Given the description of an element on the screen output the (x, y) to click on. 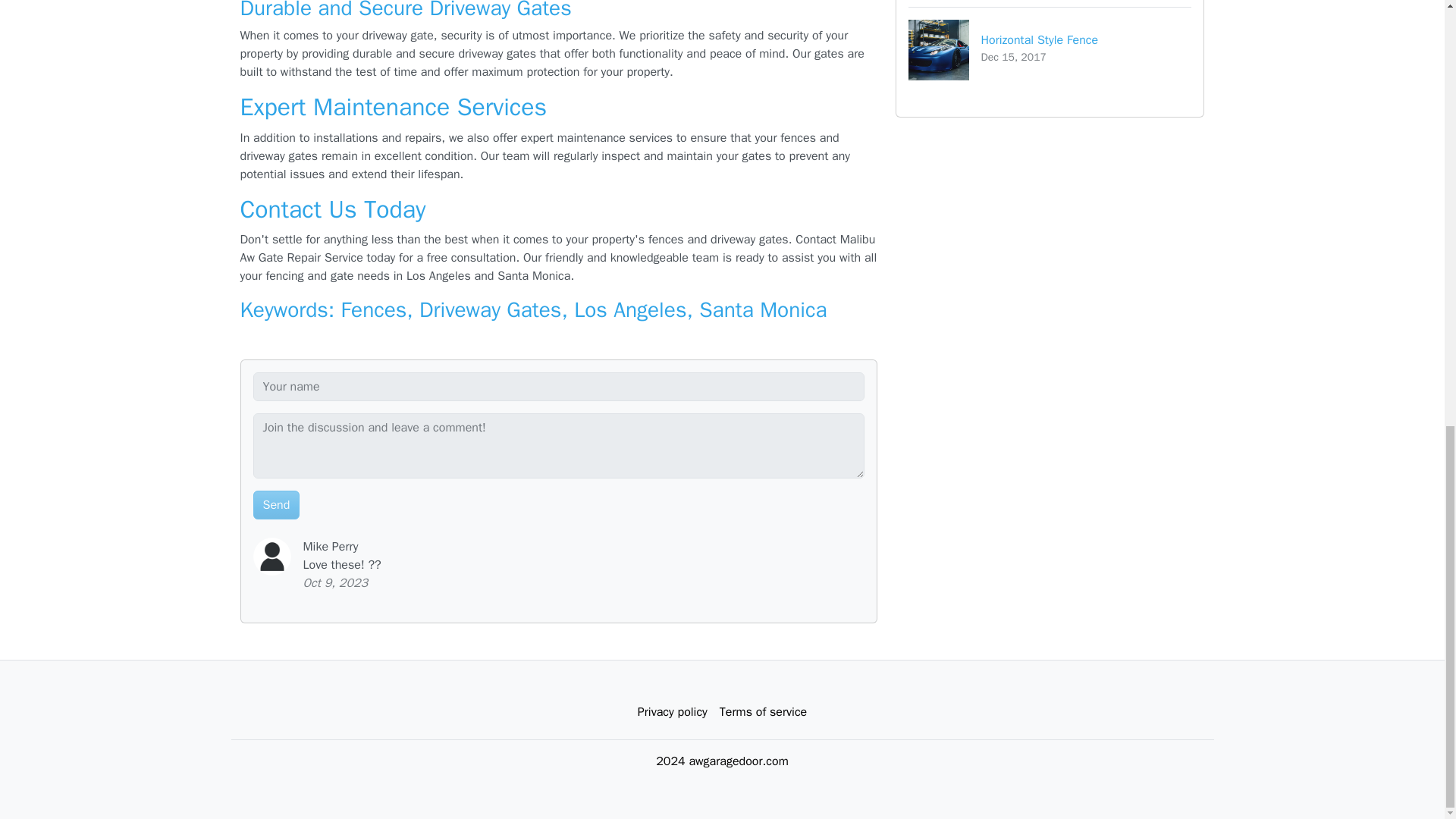
Send (276, 504)
Send (276, 504)
Privacy policy (672, 711)
Terms of service (1050, 49)
